Given the description of an element on the screen output the (x, y) to click on. 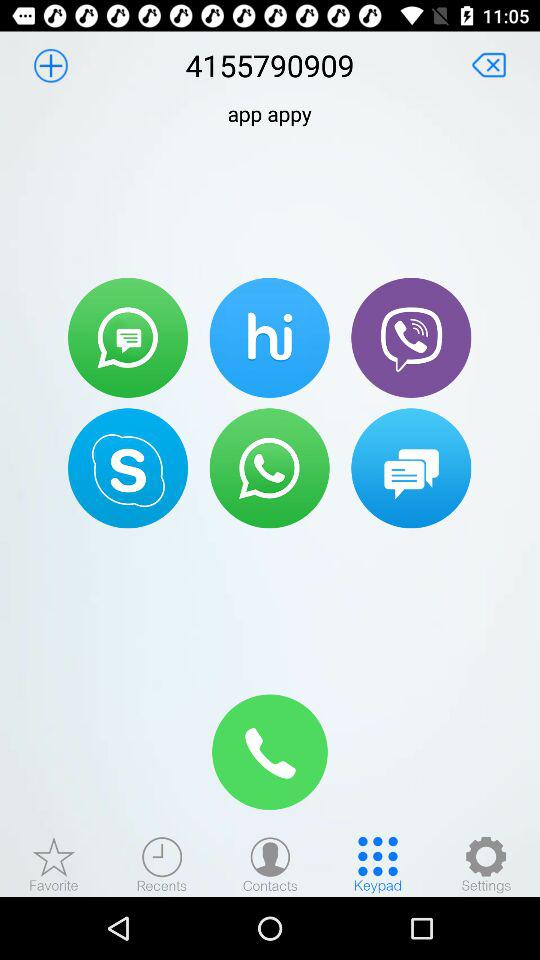
type the keypad (377, 864)
